Given the description of an element on the screen output the (x, y) to click on. 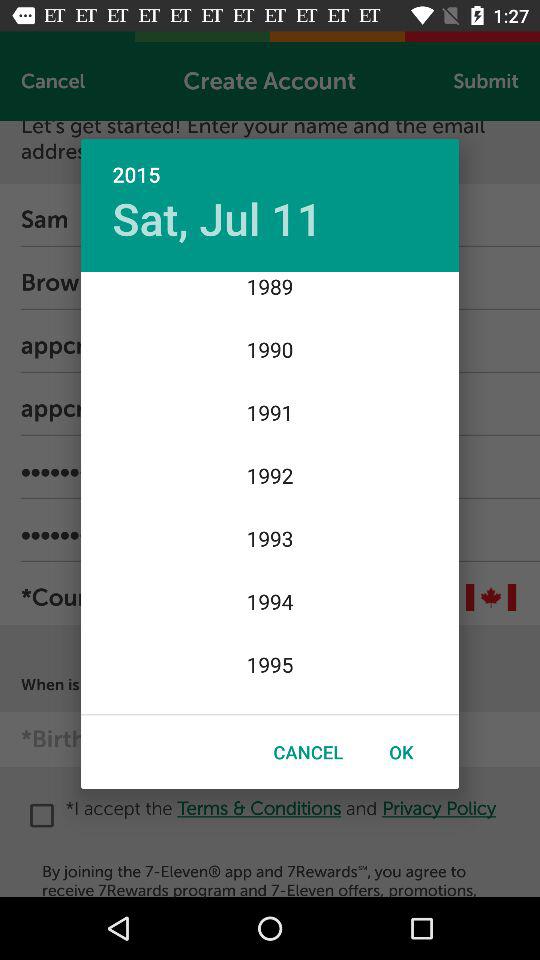
swipe until cancel (308, 751)
